Given the description of an element on the screen output the (x, y) to click on. 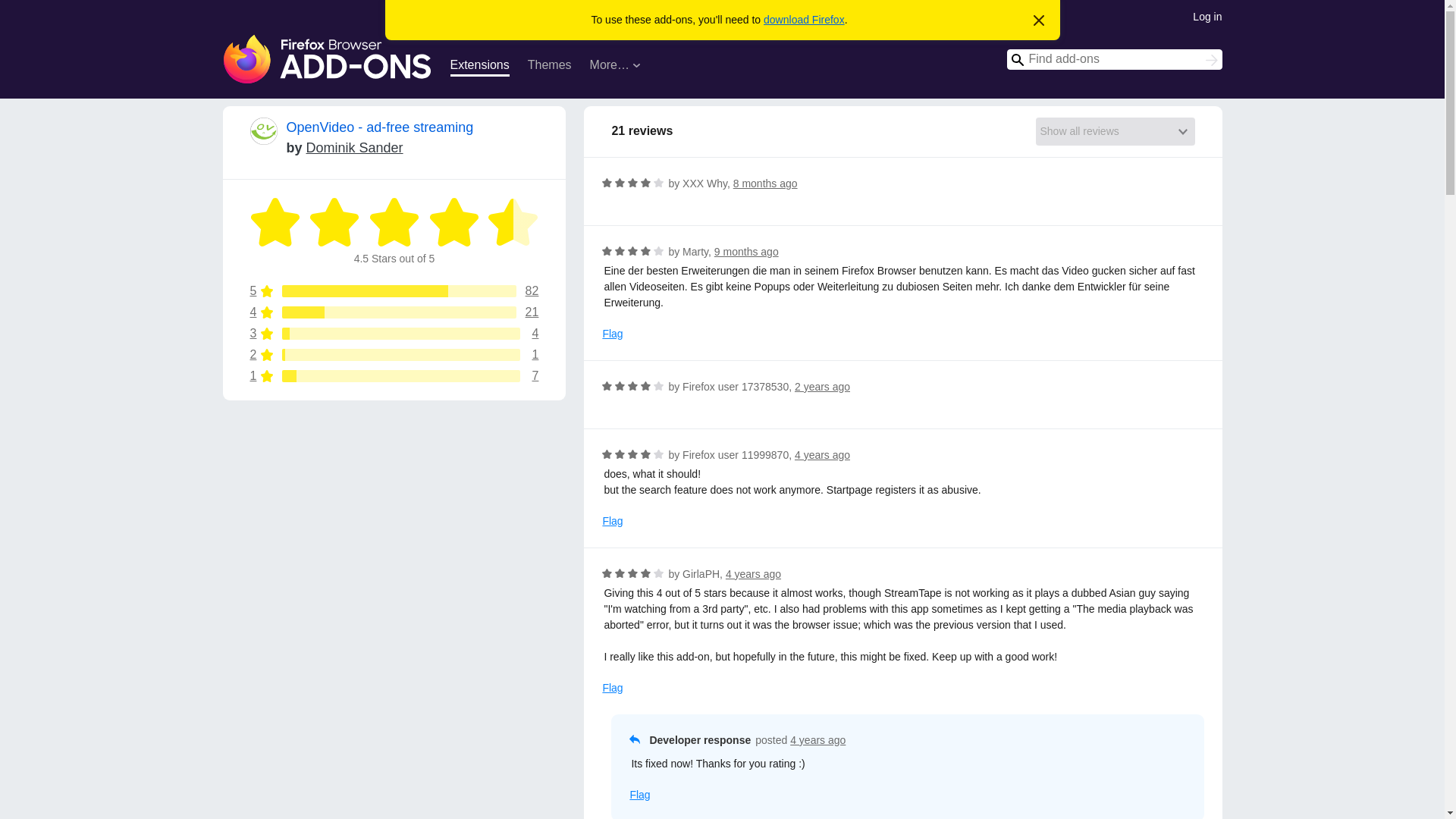
Firefox Browser Add-ons (327, 59)
download Firefox (803, 19)
Read all 21 four-star reviews (394, 312)
4 years ago (817, 739)
Rated 4 out of 5 (658, 182)
Extensions (479, 66)
Flag (612, 333)
Dominik Sander (354, 147)
Rated 4 out of 5 (632, 182)
Rated 4.5 out of 5 (275, 222)
Flag (612, 688)
Flag (394, 333)
Read all 4 three-star reviews (638, 795)
Read the 1 two-star review (394, 333)
